Given the description of an element on the screen output the (x, y) to click on. 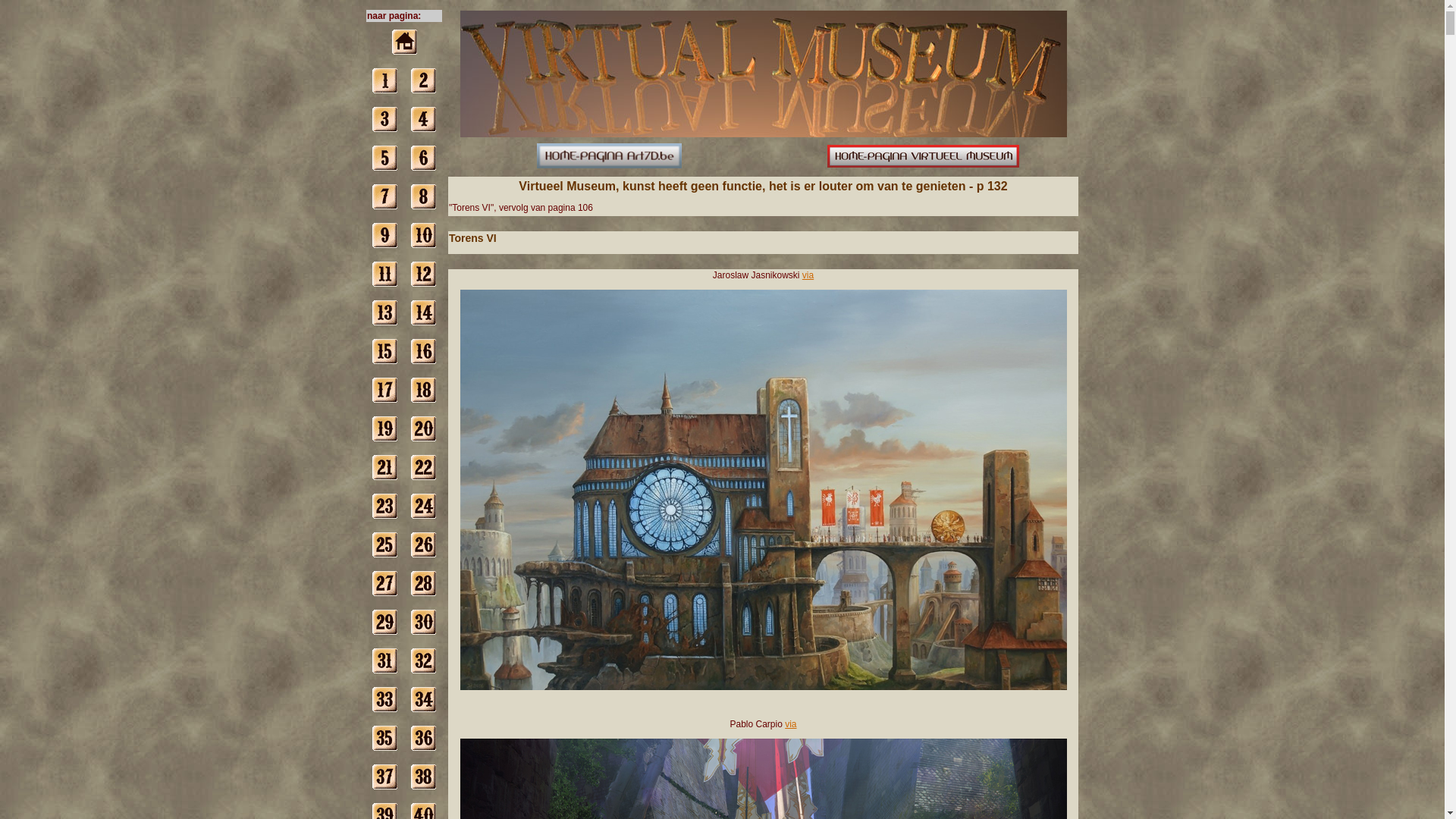
via Element type: text (807, 274)
via Element type: text (790, 723)
